Given the description of an element on the screen output the (x, y) to click on. 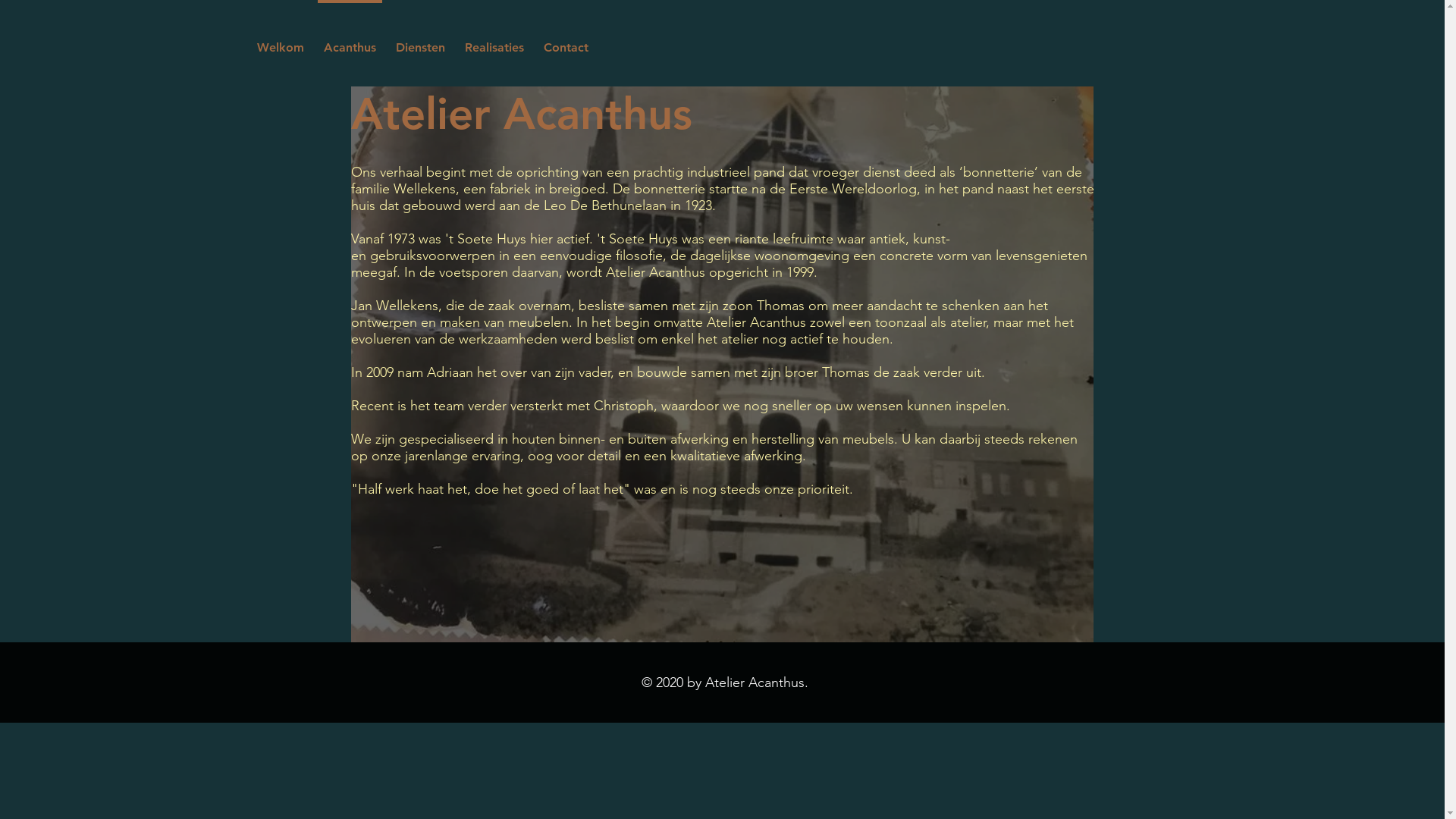
Diensten Element type: text (419, 40)
Realisaties Element type: text (494, 40)
Contact Element type: text (565, 40)
Welkom Element type: text (280, 40)
Acanthus Element type: text (349, 40)
